Given the description of an element on the screen output the (x, y) to click on. 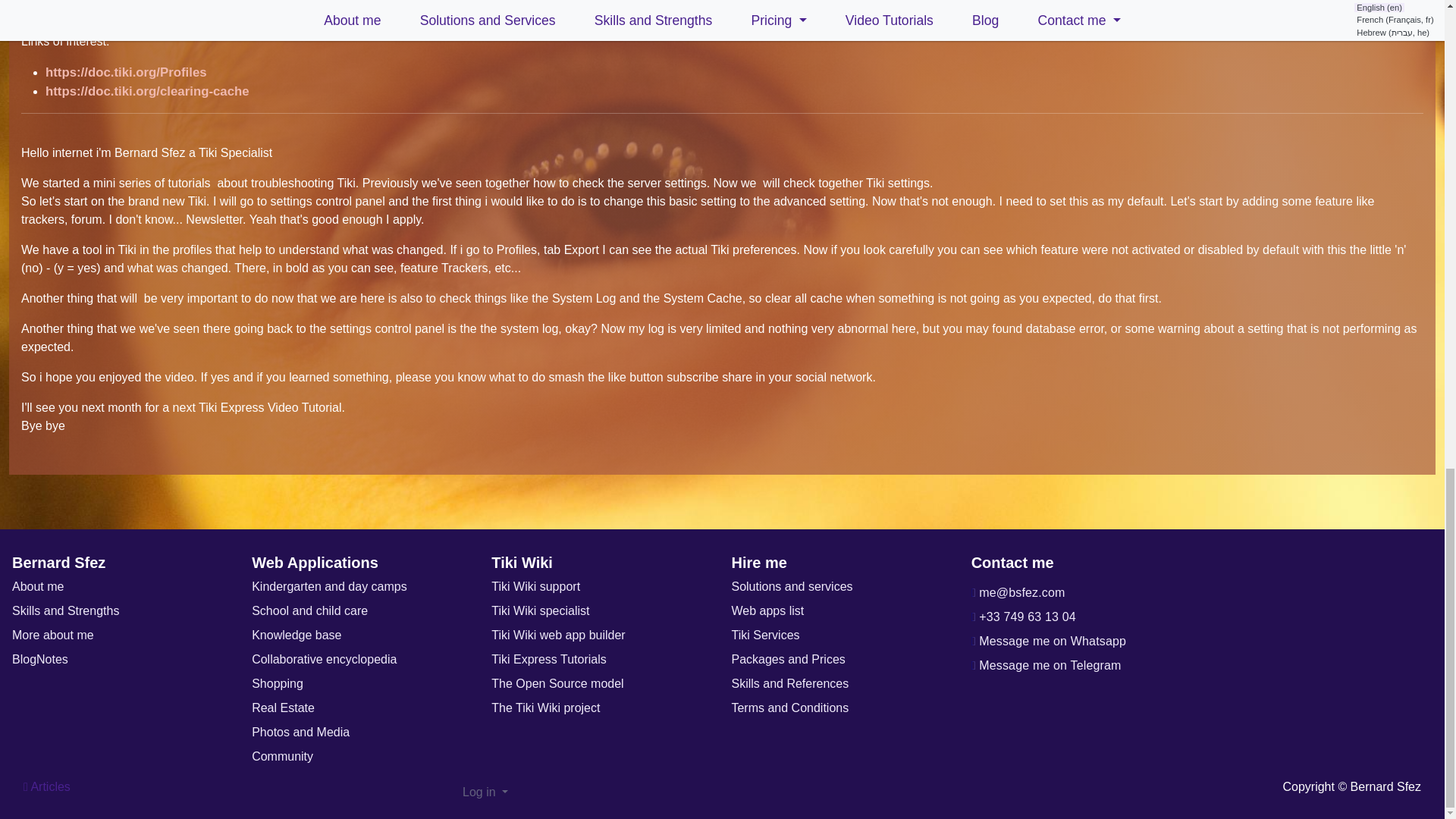
The Open Source model (557, 683)
Tiki Wiki software the website generator (545, 707)
Shopping (276, 683)
Web apps list (766, 610)
Kindergarten and day camps (329, 585)
About me (37, 585)
Skills and Strengths (65, 610)
Community (282, 756)
Solutions and services (790, 585)
Tiki Wiki support (535, 585)
